Given the description of an element on the screen output the (x, y) to click on. 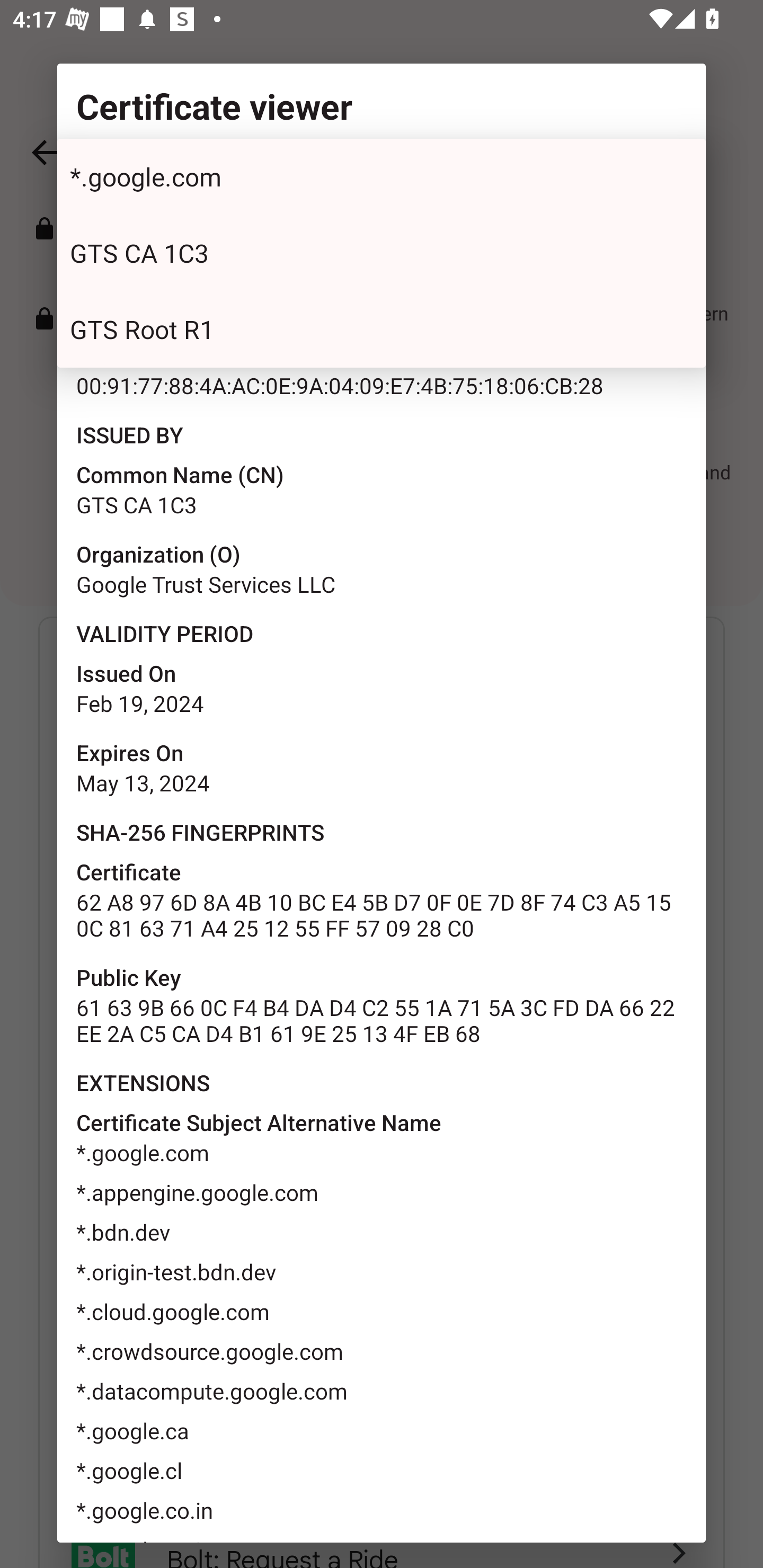
*.google.com (381, 176)
GTS CA 1C3 (381, 252)
GTS Root R1 (381, 328)
